Given the description of an element on the screen output the (x, y) to click on. 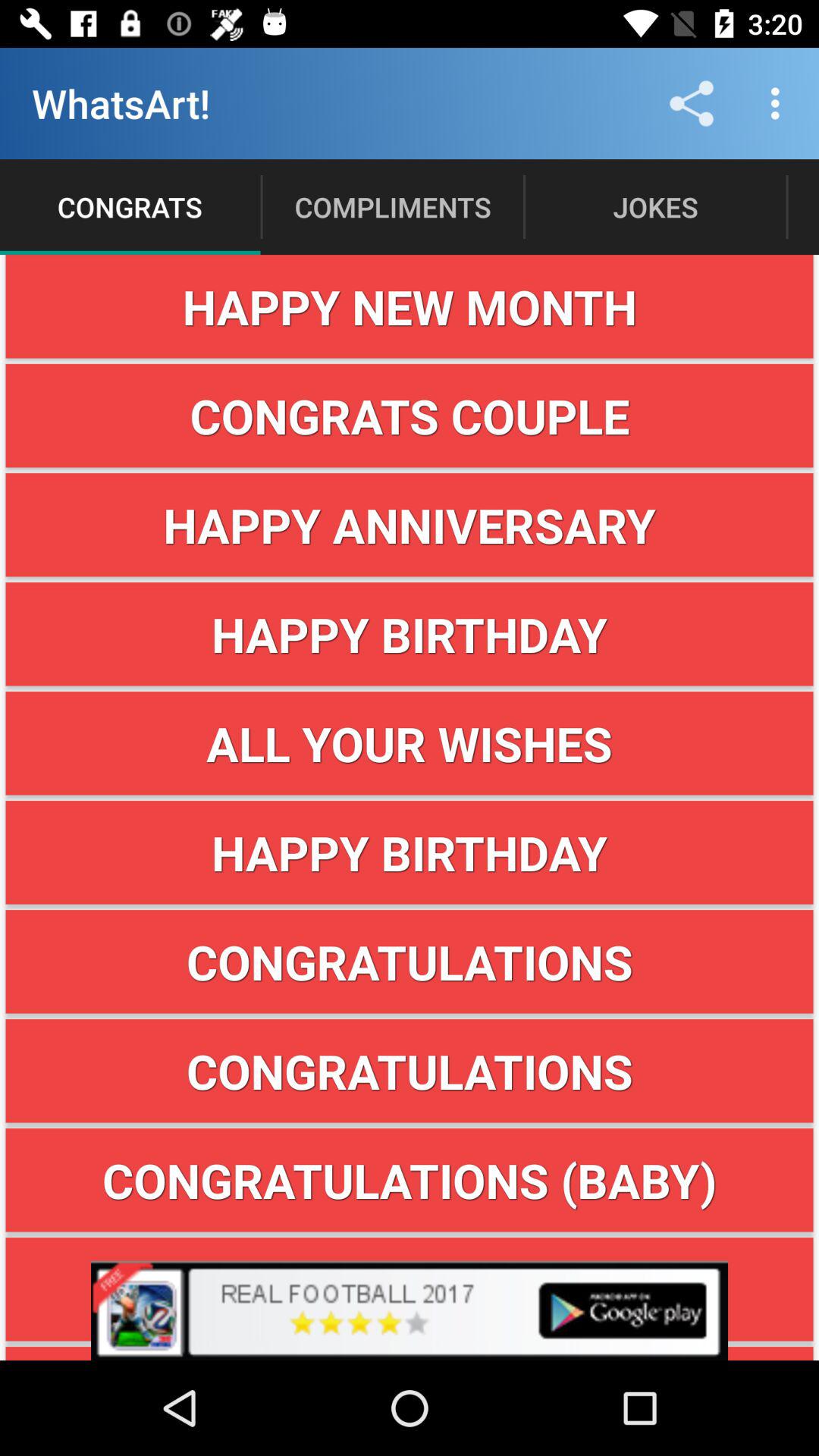
click the icon above good for you! icon (409, 1289)
